Given the description of an element on the screen output the (x, y) to click on. 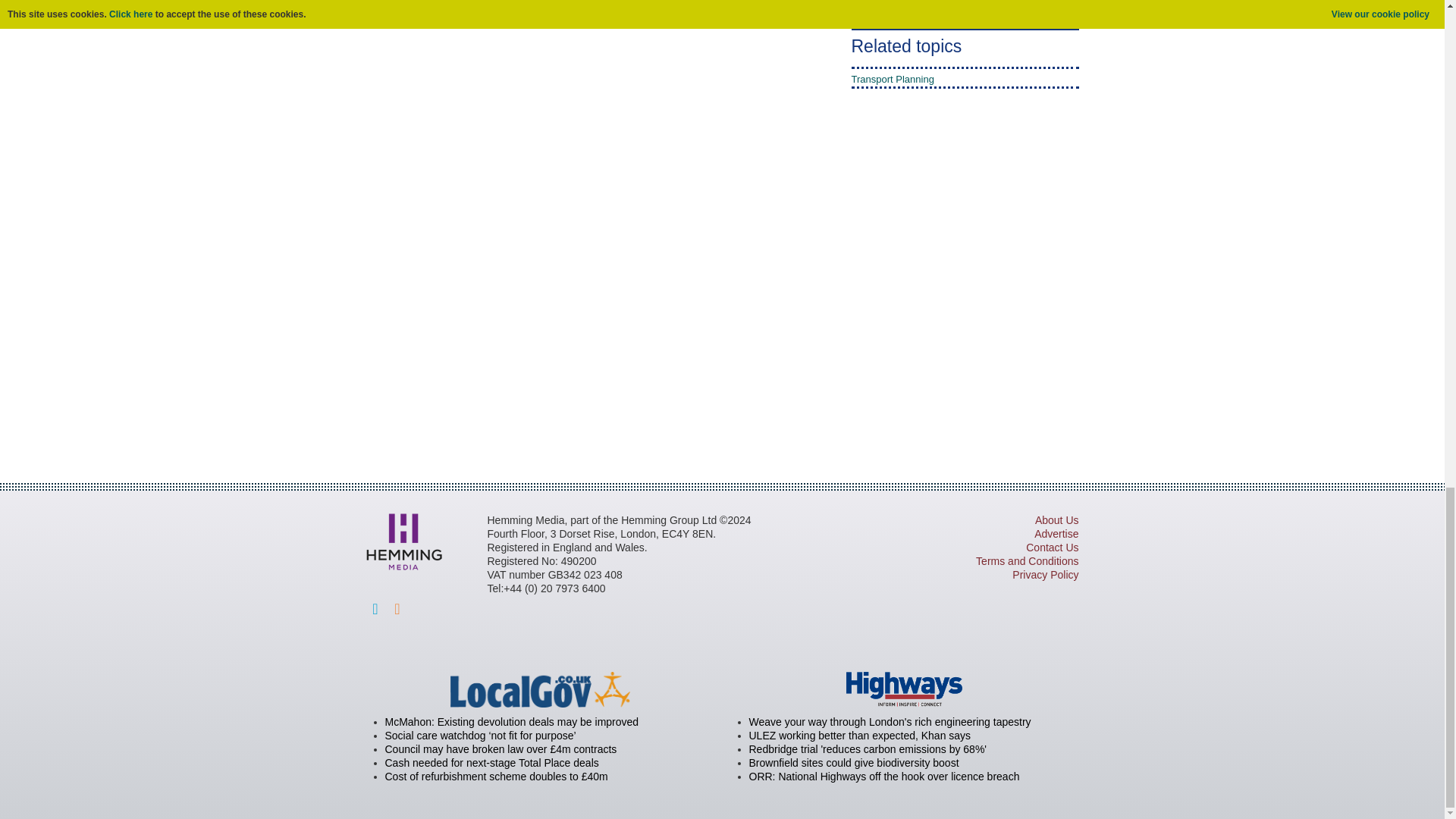
3rd party ad content (907, 272)
3rd party ad content (721, 403)
